Given the description of an element on the screen output the (x, y) to click on. 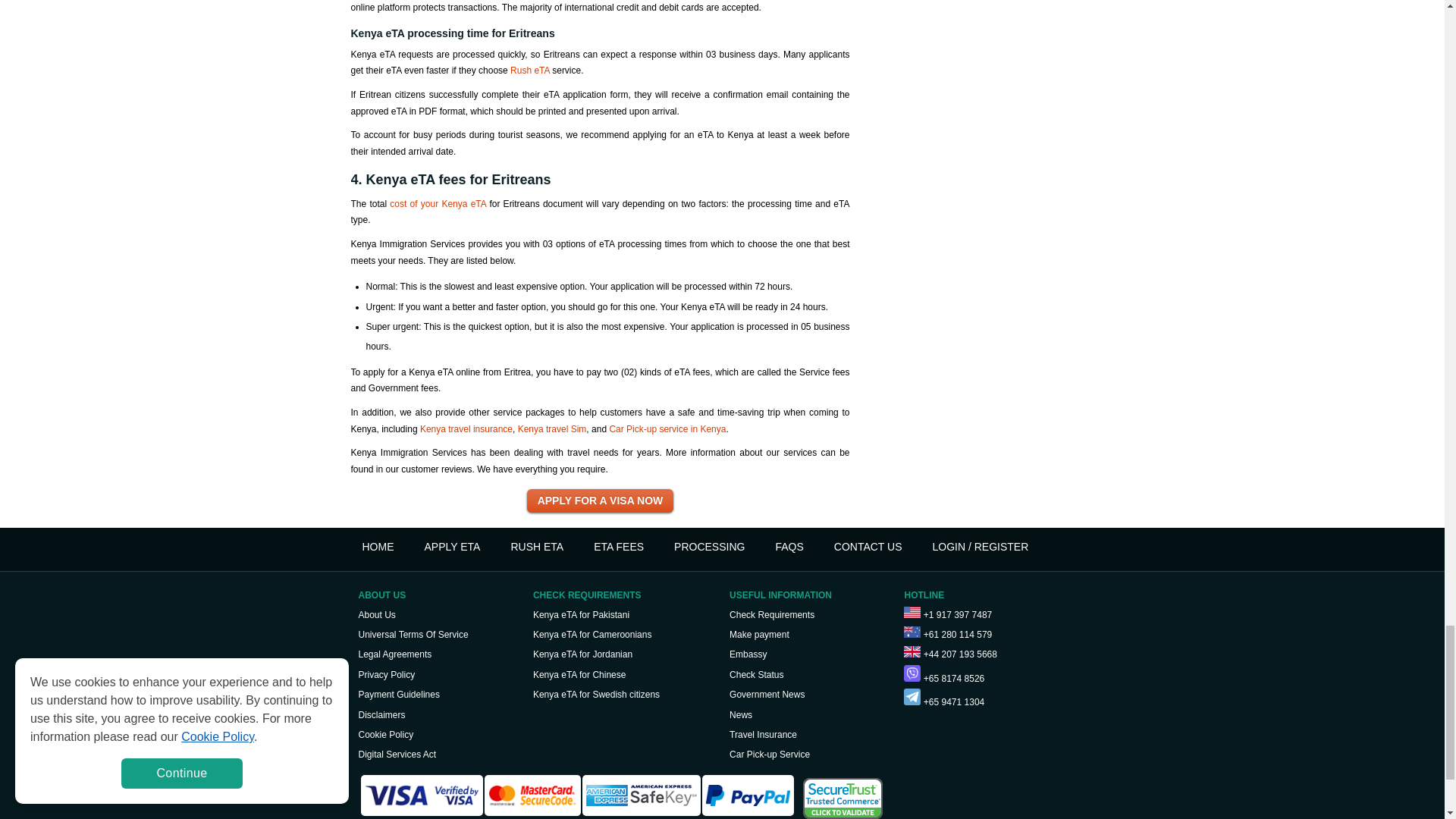
Kenya travel Sim (552, 429)
APPLY FOR A VISA NOW (600, 500)
Kenya travel insurance (466, 429)
cost of your Kenya eTA (438, 204)
Rush eTA (531, 70)
Car Pick-up service in Kenya (666, 429)
